Given the description of an element on the screen output the (x, y) to click on. 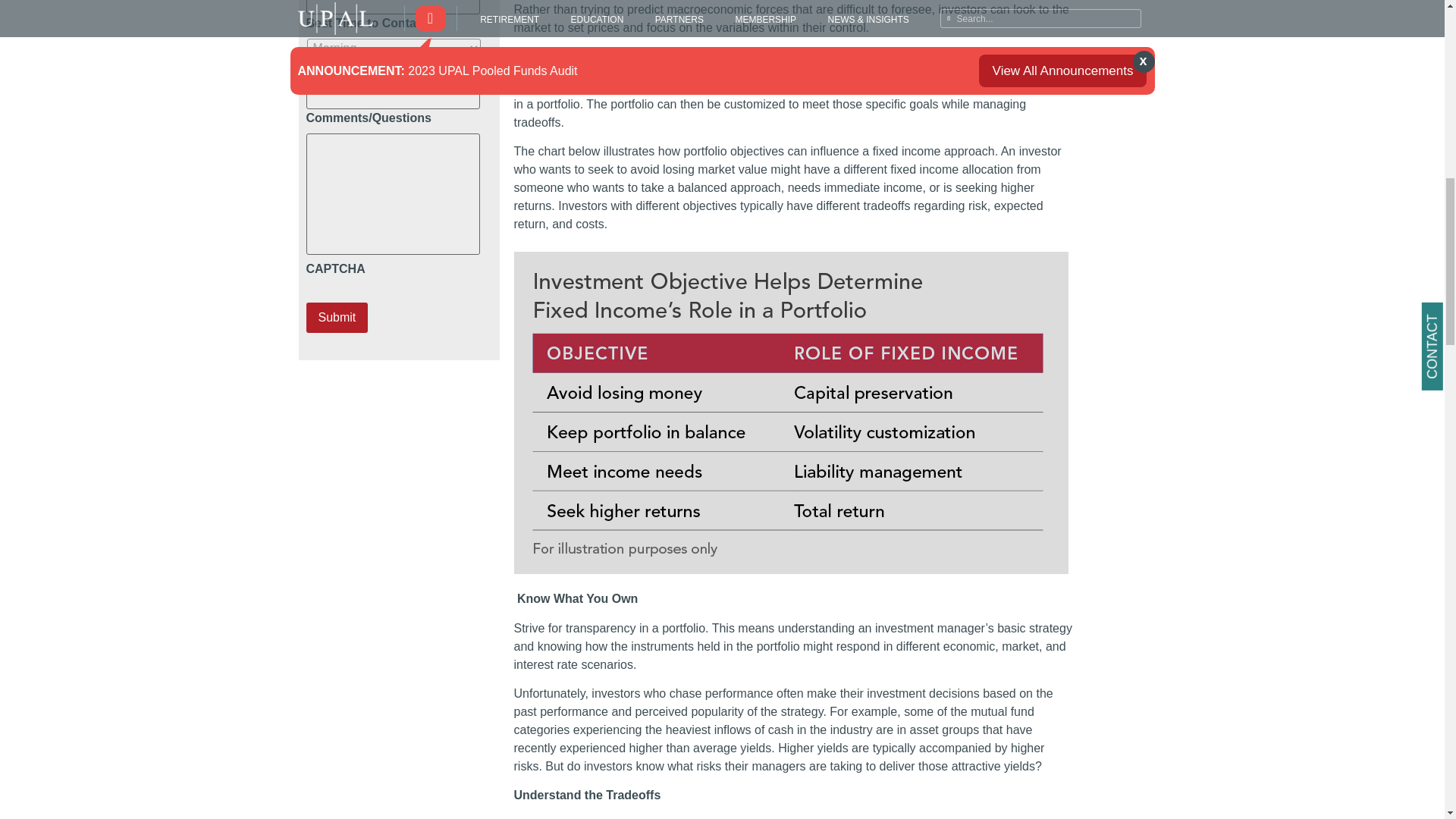
Submit (336, 317)
